Given the description of an element on the screen output the (x, y) to click on. 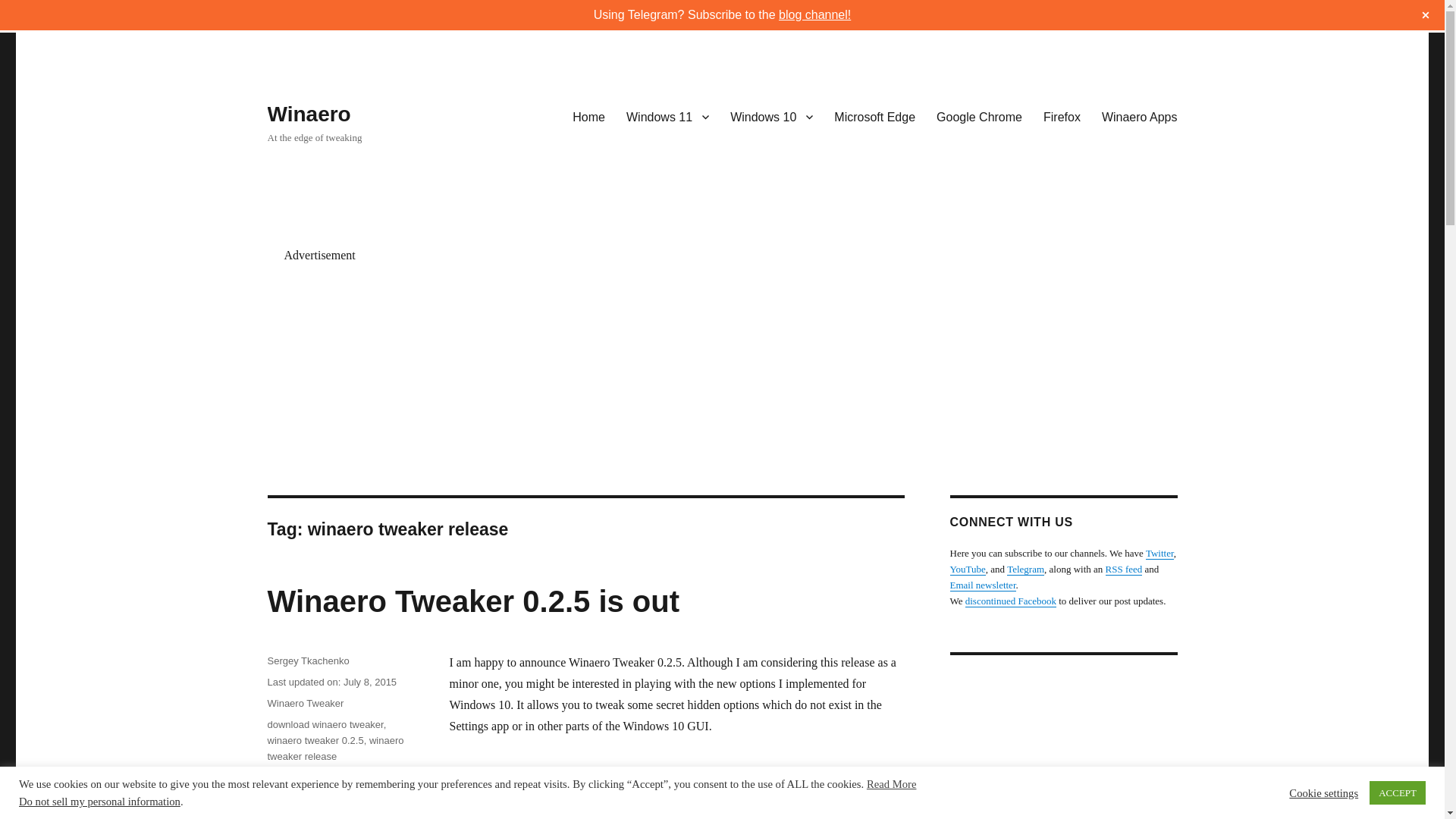
Winaero Apps (1139, 116)
Windows 10 (771, 116)
download winaero tweaker (324, 724)
Sergey Tkachenko (307, 660)
Google Chrome (979, 116)
Winaero (308, 114)
Winaero Tweaker (304, 703)
Join our Telegram channel (1025, 568)
Home (588, 116)
Advertisement (1079, 745)
Subscribe with email (981, 584)
Winaero on YouTube (967, 568)
Microsoft Edge (875, 116)
